Given the description of an element on the screen output the (x, y) to click on. 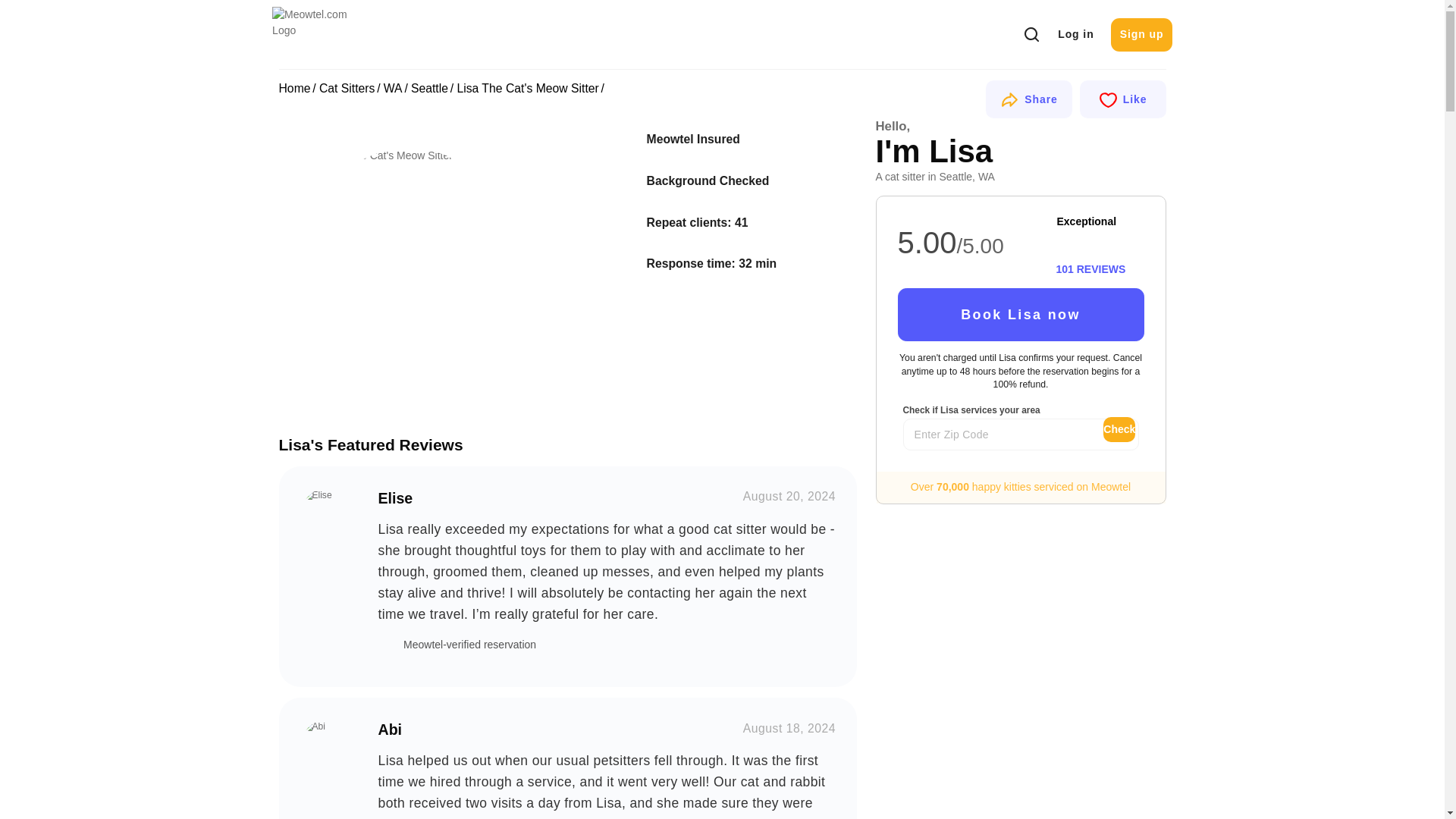
WA (393, 88)
Book Lisa now (1021, 314)
Home (295, 88)
Home (295, 88)
Log in (1075, 34)
Lisa The Cat's Meow Sitter (408, 242)
Meowtel.com Logo (321, 32)
Book Lisa now (1021, 314)
Sign up (1141, 34)
Like (1123, 98)
